Given the description of an element on the screen output the (x, y) to click on. 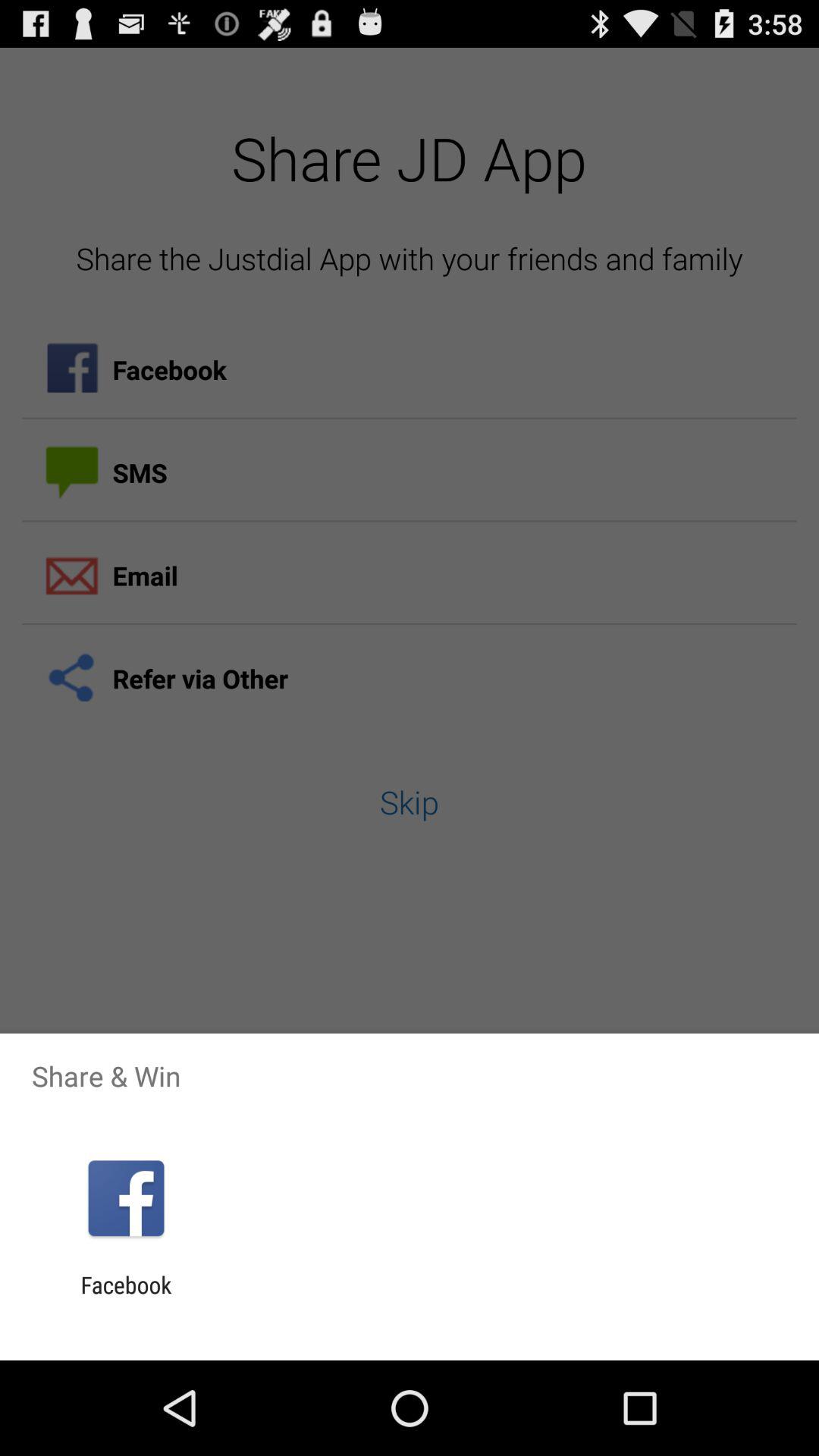
scroll until the facebook app (125, 1298)
